Given the description of an element on the screen output the (x, y) to click on. 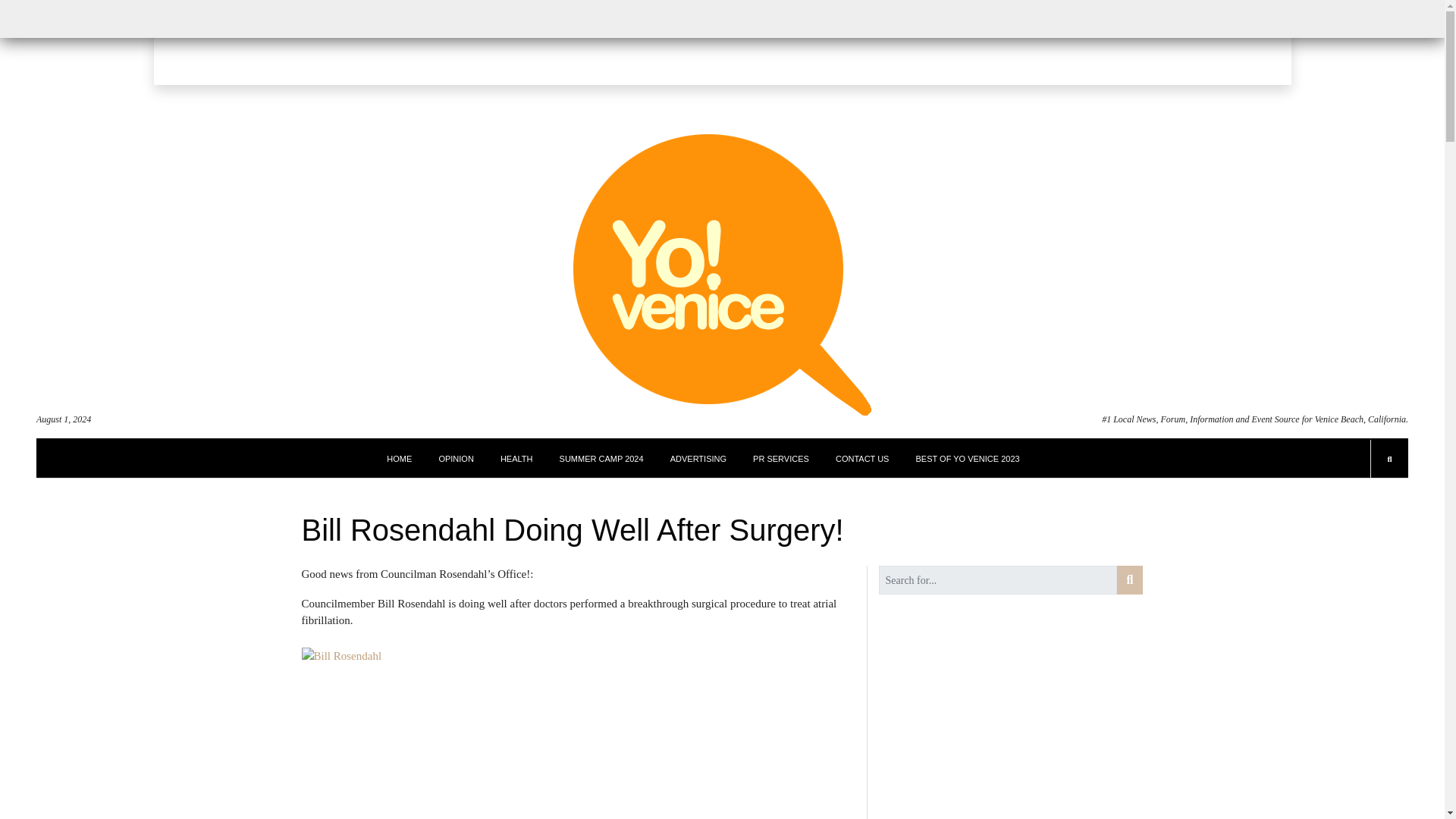
BEST OF YO VENICE 2023 (967, 458)
PR SERVICES (780, 458)
Bill Rosendahl by www.YoVenice.com, on Flickr (578, 733)
SUMMER CAMP 2024 (601, 458)
ADVERTISING (697, 458)
CONTACT US (862, 458)
OPINION (455, 458)
